Given the description of an element on the screen output the (x, y) to click on. 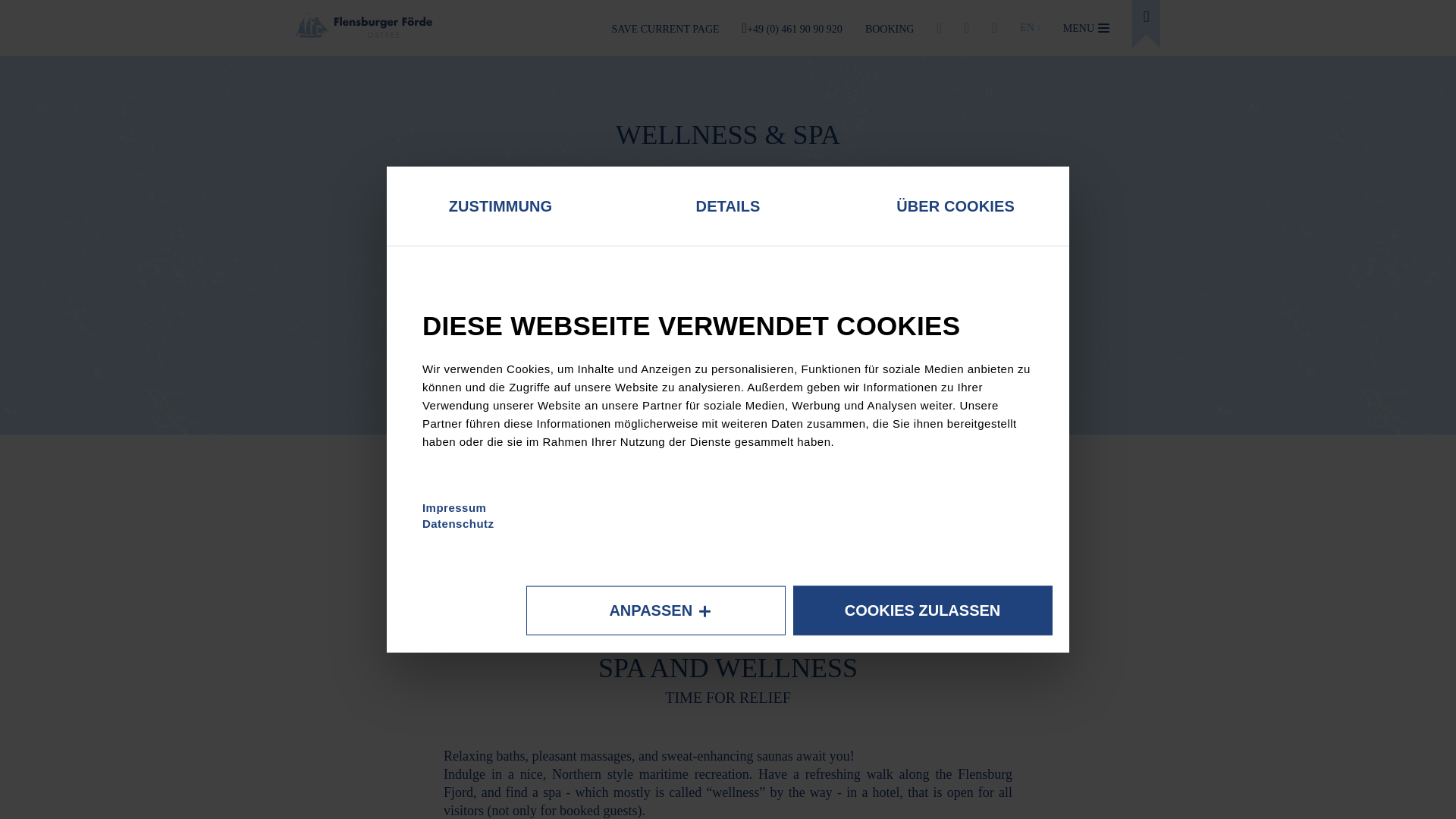
ANPASSEN (655, 610)
Impressum (454, 507)
COOKIES ZULASSEN (922, 610)
DETAILS (727, 206)
ZUSTIMMUNG (500, 206)
Datenschutz (458, 523)
